Given the description of an element on the screen output the (x, y) to click on. 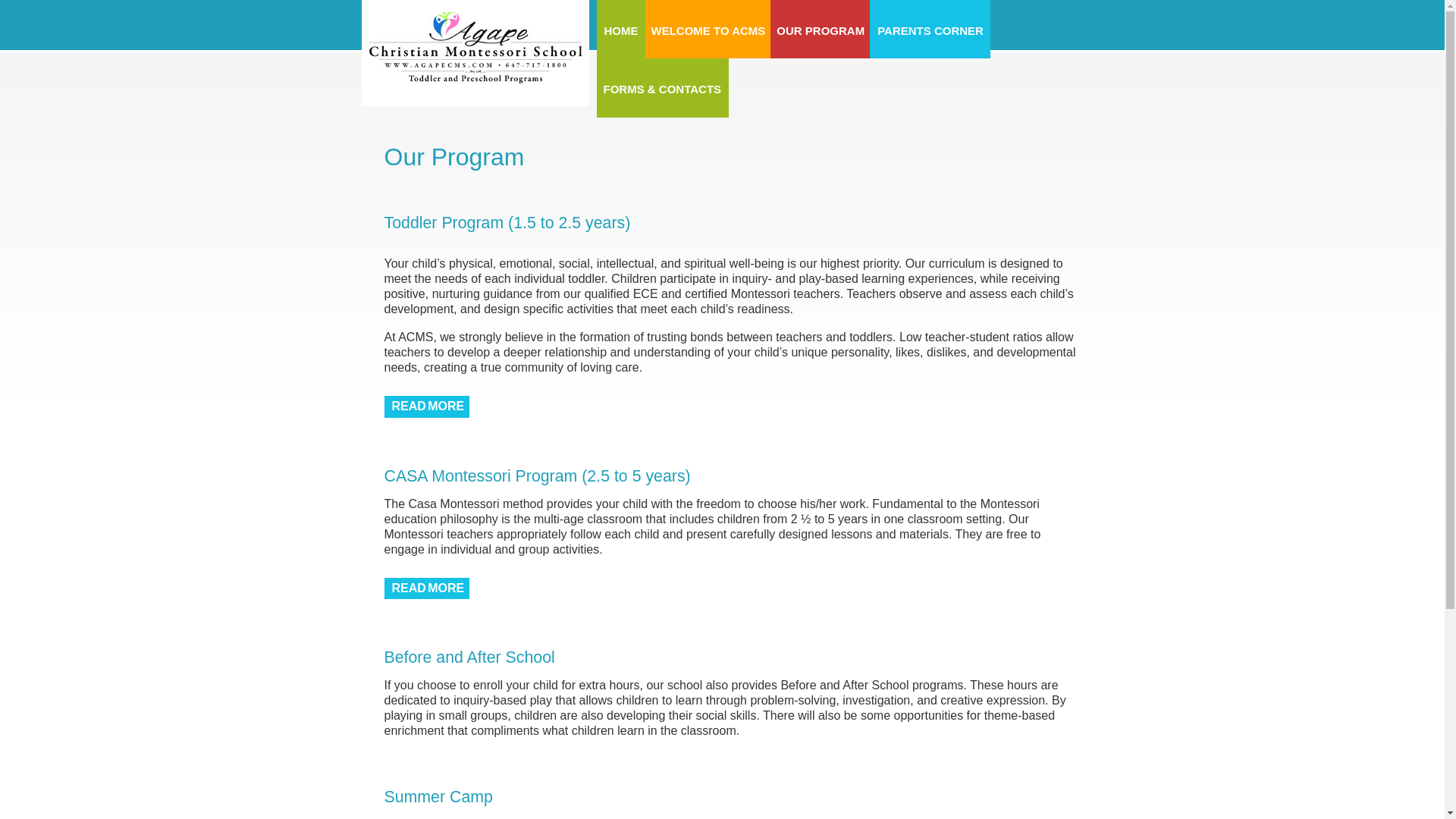
Agape Christian Montessori School (474, 52)
READ MORE (426, 588)
OUR PROGRAM (819, 29)
HOME (620, 29)
WELCOME TO ACMS (707, 29)
READ MORE (426, 406)
PARENTS CORNER (929, 29)
